Given the description of an element on the screen output the (x, y) to click on. 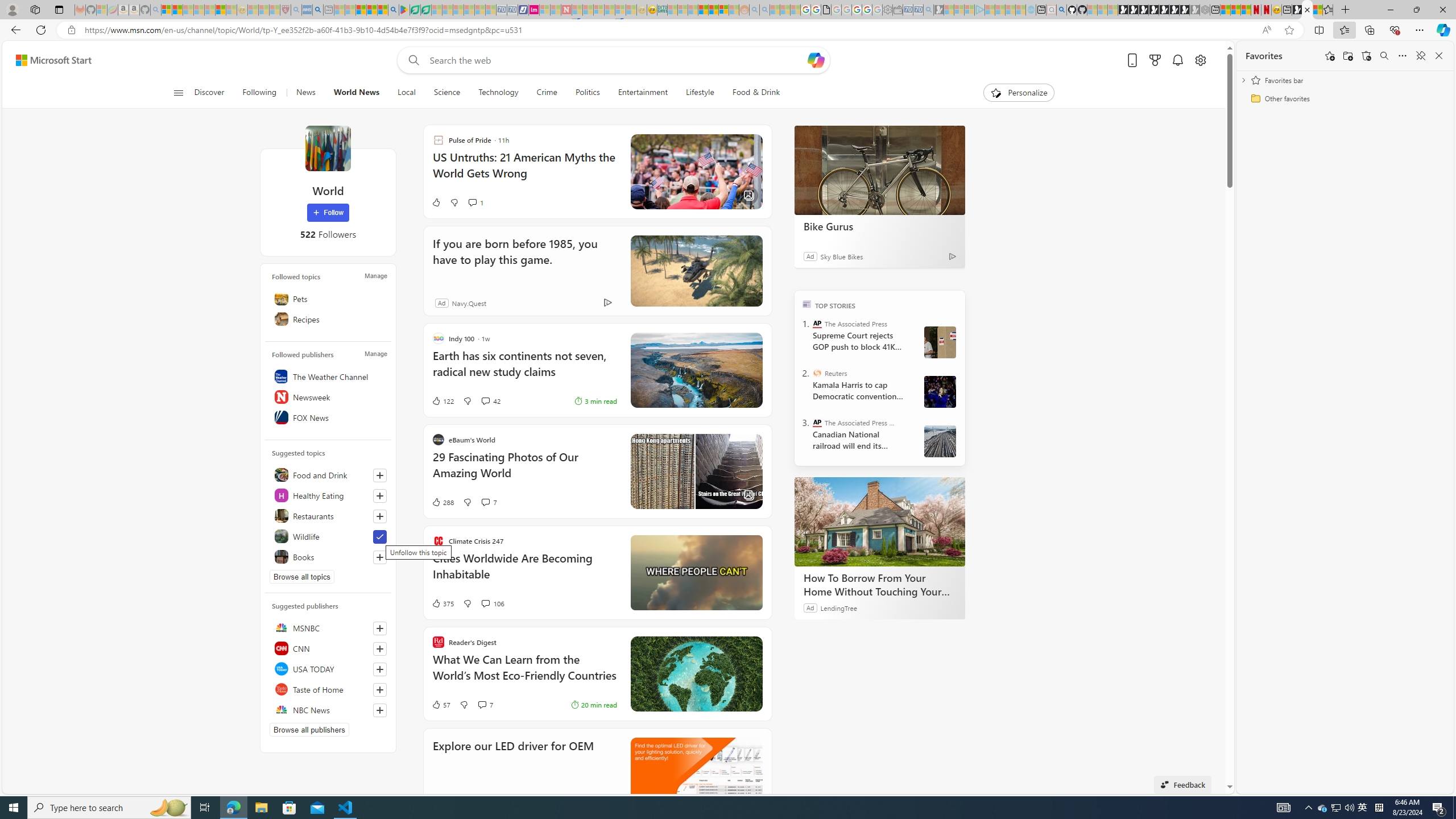
Reuters (816, 372)
Unfollow this topic (379, 536)
View comments 106 Comment (485, 602)
The Associated Press - Business News (816, 422)
